Given the description of an element on the screen output the (x, y) to click on. 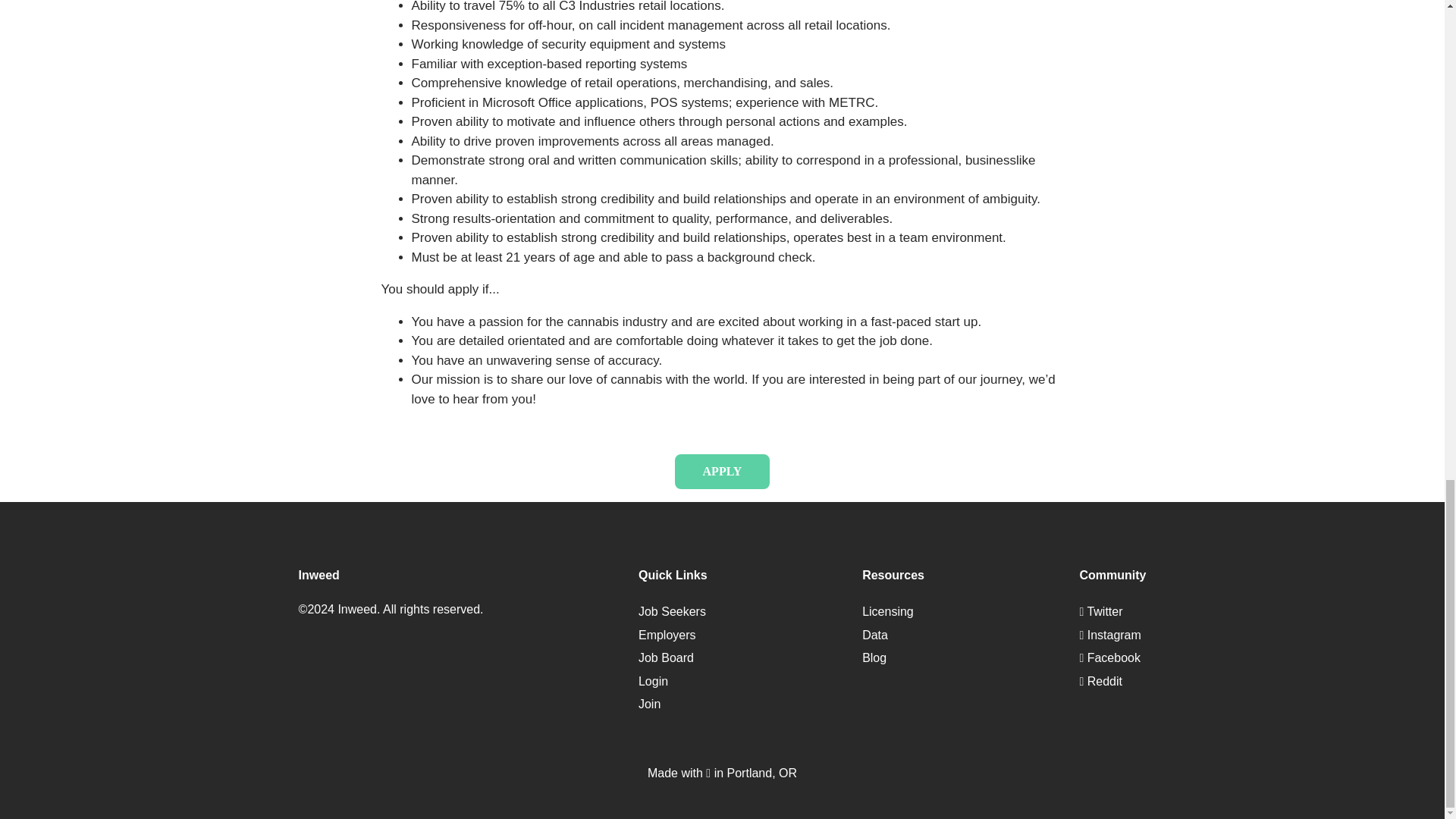
 Instagram (1109, 634)
Login (653, 680)
Join (650, 703)
APPLY (722, 471)
Employers (667, 634)
Job Seekers (672, 611)
 Twitter (1100, 611)
 Facebook (1109, 657)
Job Board (666, 657)
 Reddit (1100, 680)
